Given the description of an element on the screen output the (x, y) to click on. 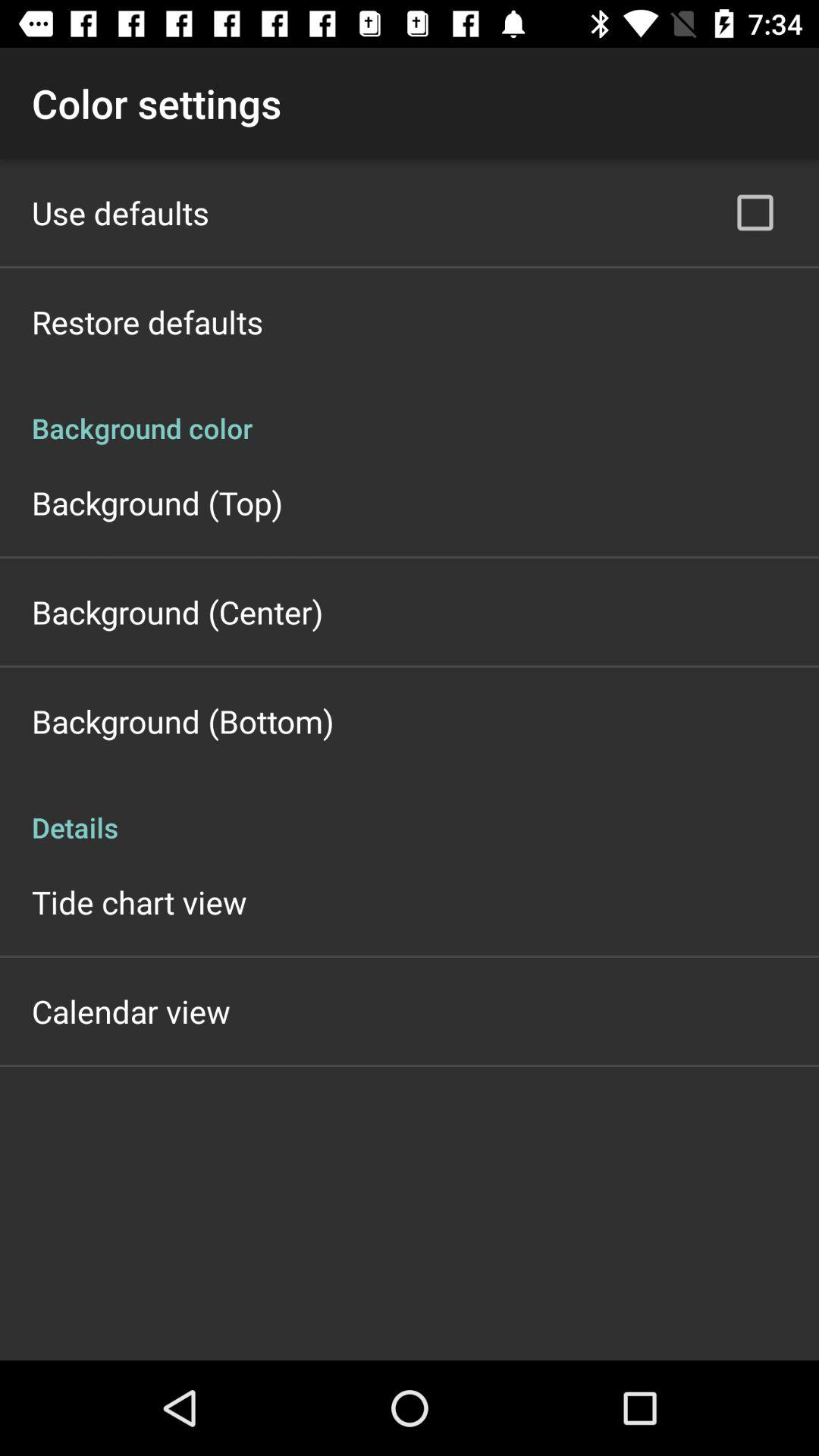
select the background (bottom) app (182, 720)
